Given the description of an element on the screen output the (x, y) to click on. 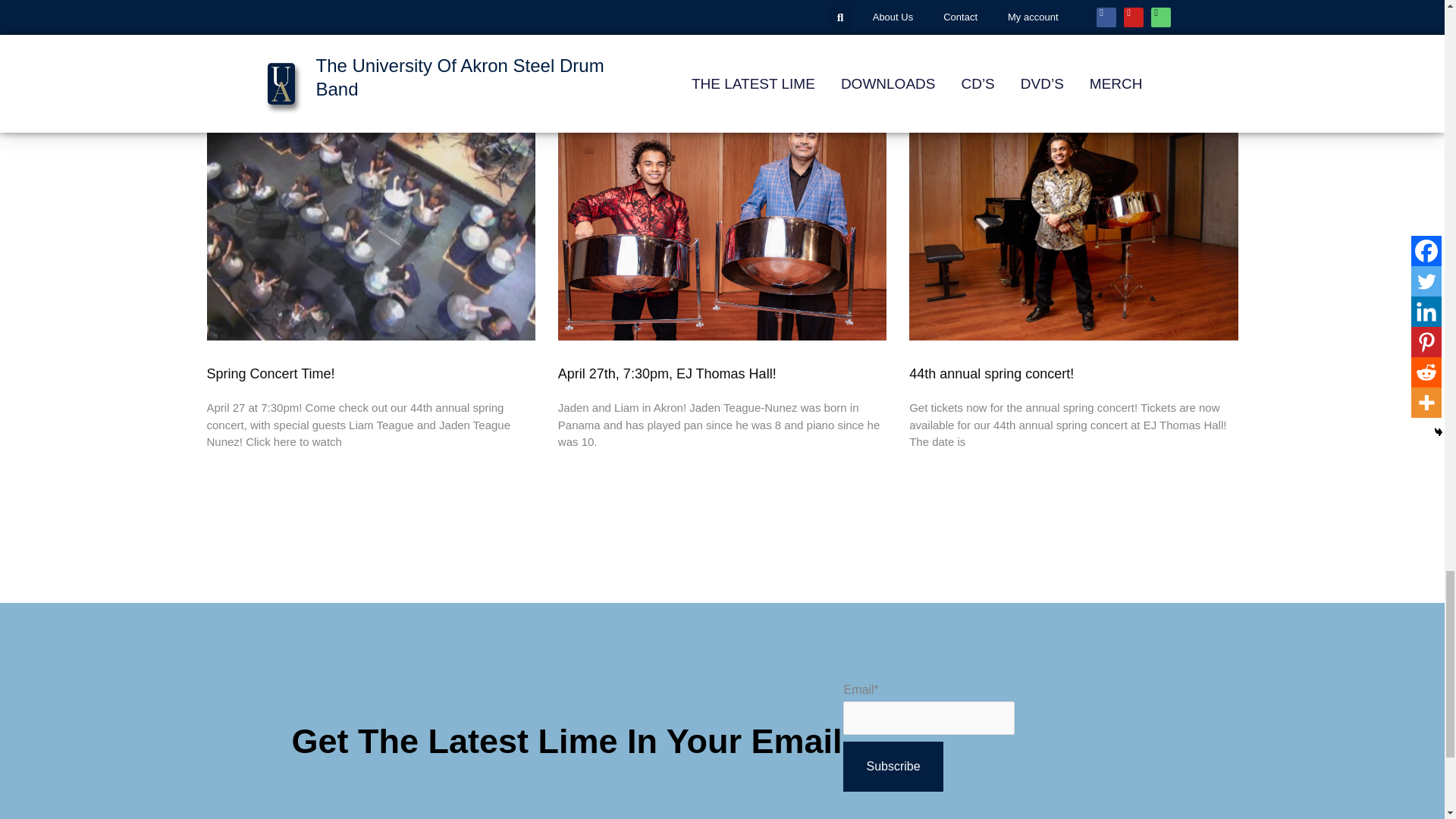
Subscribe (892, 766)
